Given the description of an element on the screen output the (x, y) to click on. 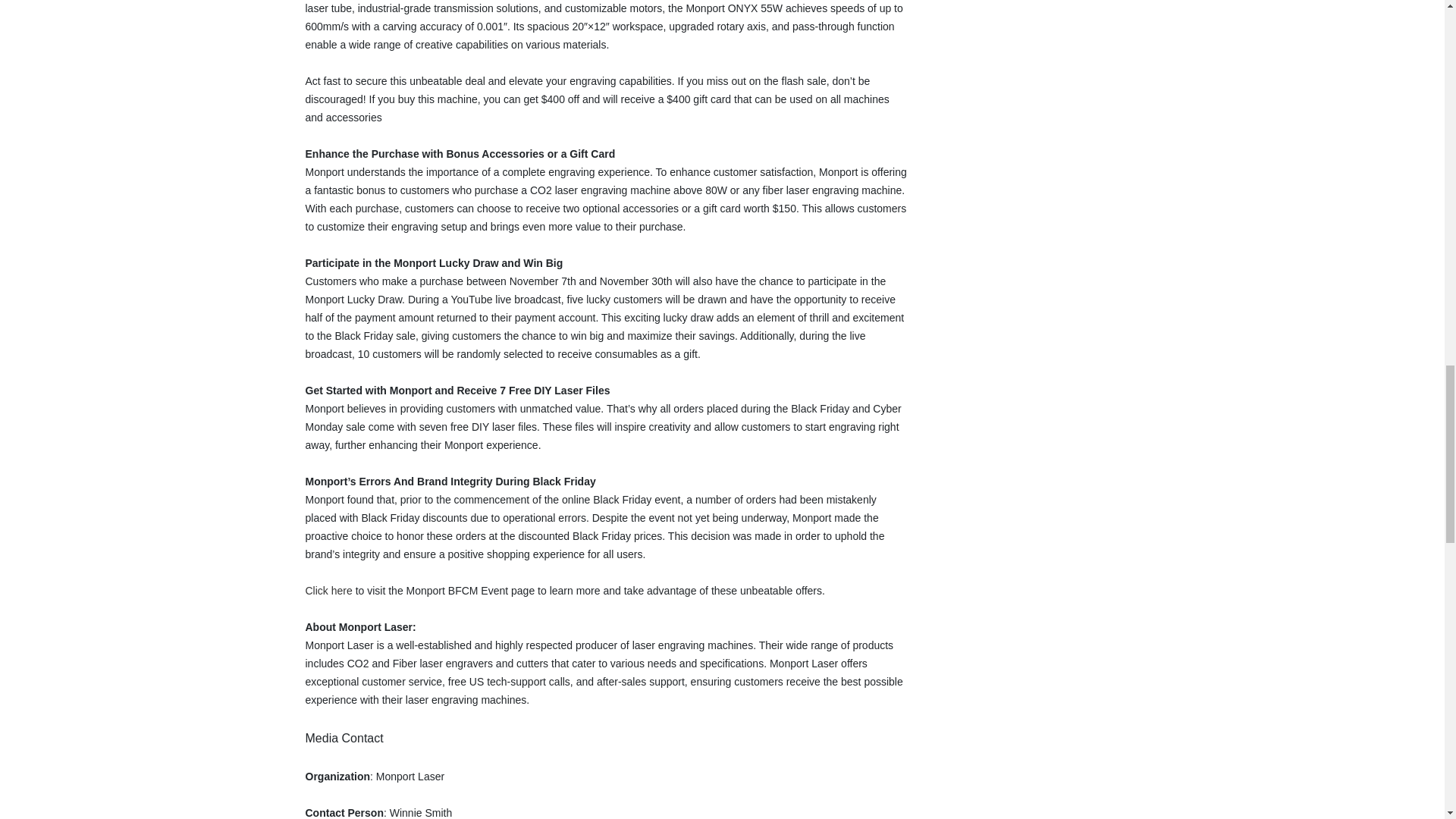
Click here (328, 590)
